Given the description of an element on the screen output the (x, y) to click on. 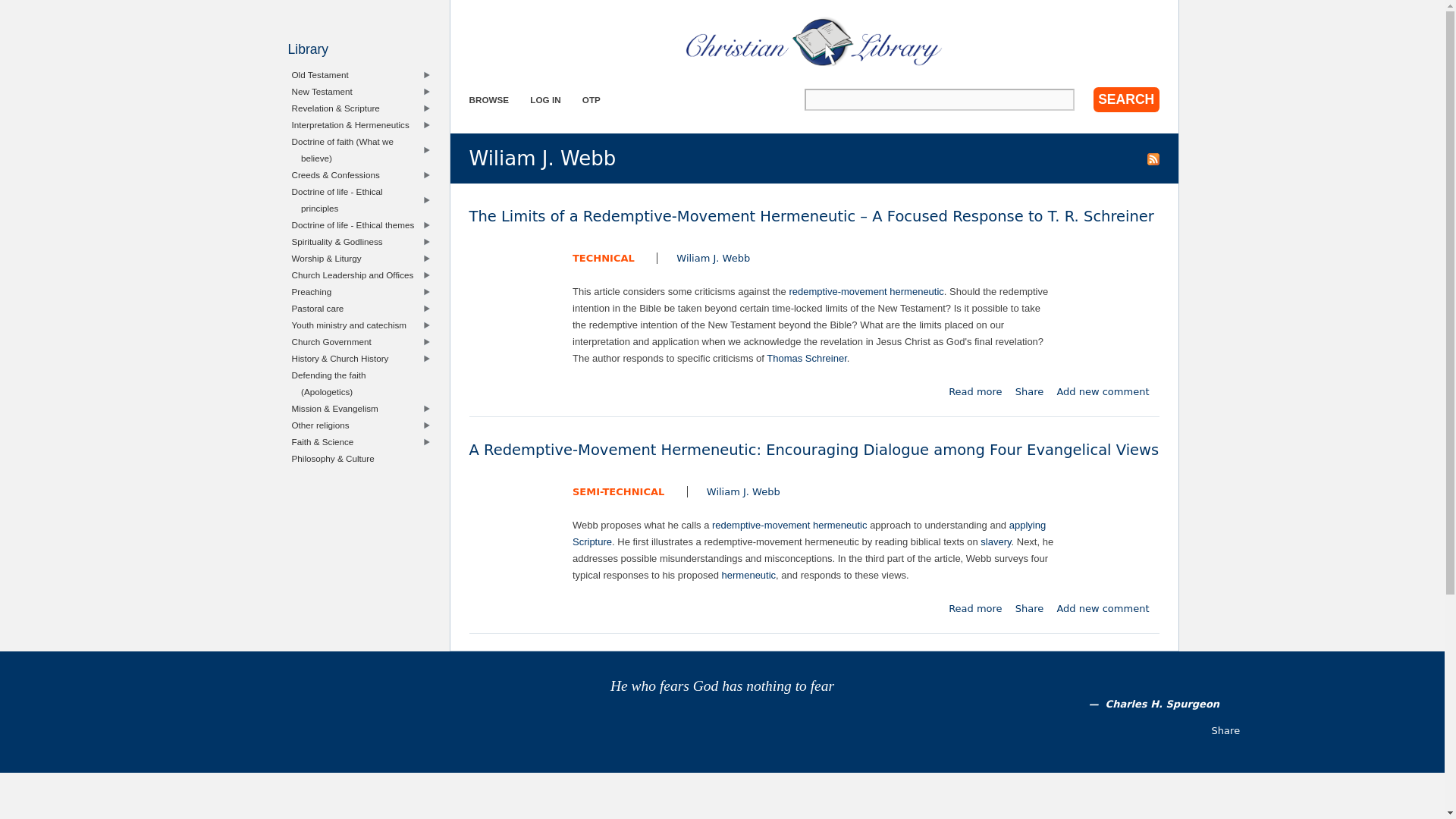
hermeneutic (749, 574)
Search (1125, 99)
Add new comment (1102, 608)
Add new comment (1102, 391)
OTP (590, 99)
Wiliam J. Webb (713, 257)
Search (1125, 99)
LOG IN (544, 99)
Add a new comment to this page. (1102, 391)
slavery (994, 541)
redemptive-movement hermeneutic (788, 524)
Thomas Schreiner (807, 357)
Wiliam J. Webb (743, 491)
